Given the description of an element on the screen output the (x, y) to click on. 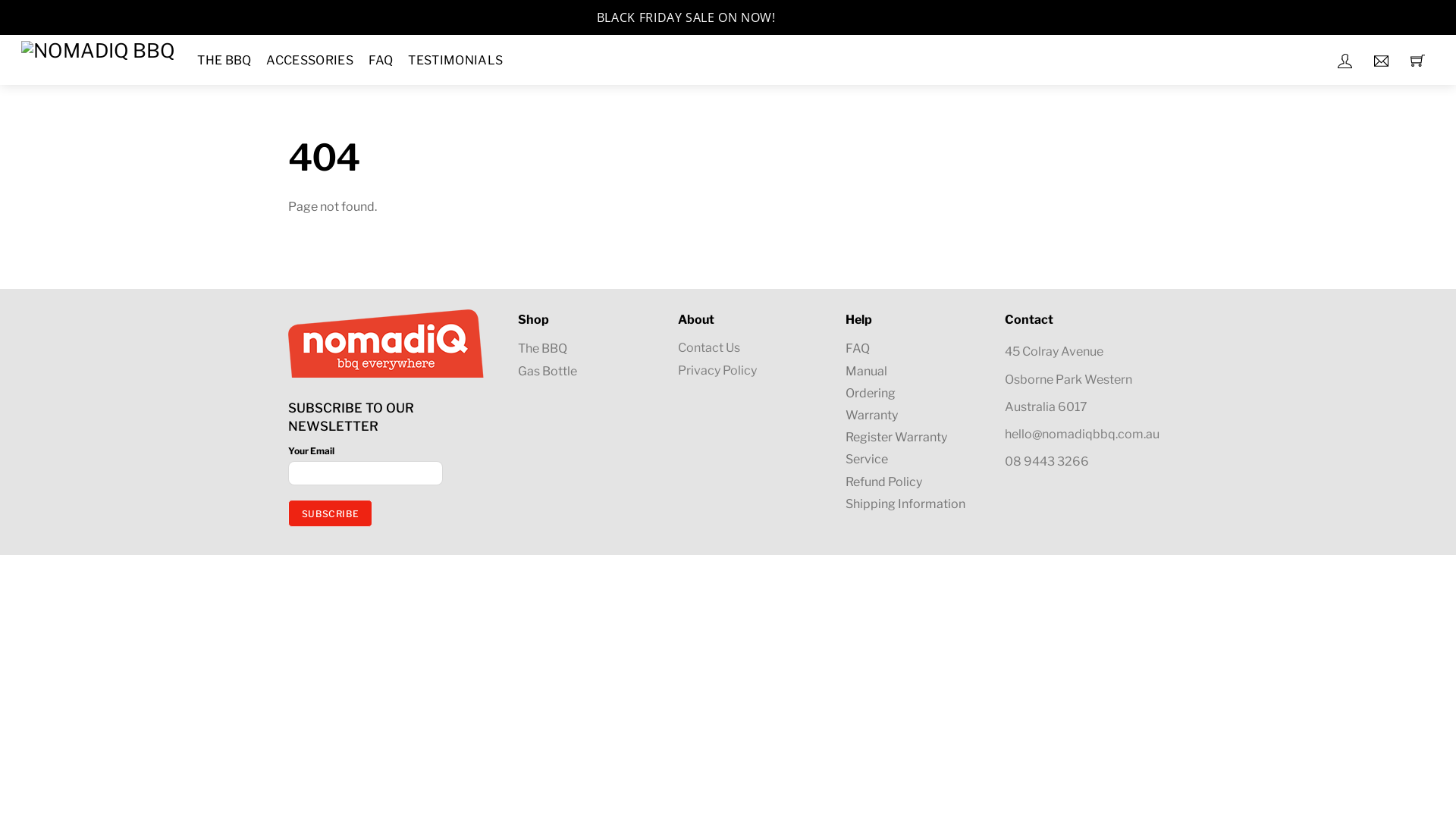
Gas Bottle Element type: text (547, 371)
c Element type: text (1427, 19)
Nomadiq BBQ Element type: hover (98, 47)
logo-31 Element type: hover (386, 343)
logo-31 Element type: hover (98, 50)
The BBQ Element type: text (542, 348)
TESTIMONIALS Element type: text (455, 59)
THE BBQ Element type: text (224, 59)
Refund Policy Element type: text (883, 481)
FAQ Element type: text (857, 348)
FAQ Element type: text (380, 59)
Subscribe Element type: text (330, 513)
Manual Element type: text (866, 371)
ACCESSORIES Element type: text (309, 59)
Register Warranty Element type: text (896, 436)
Ordering Element type: text (870, 392)
Service Element type: text (866, 458)
Warranty Element type: text (871, 414)
Shipping Information Element type: text (905, 503)
Contact Us Element type: text (708, 347)
Privacy Policy Element type: text (716, 370)
